Given the description of an element on the screen output the (x, y) to click on. 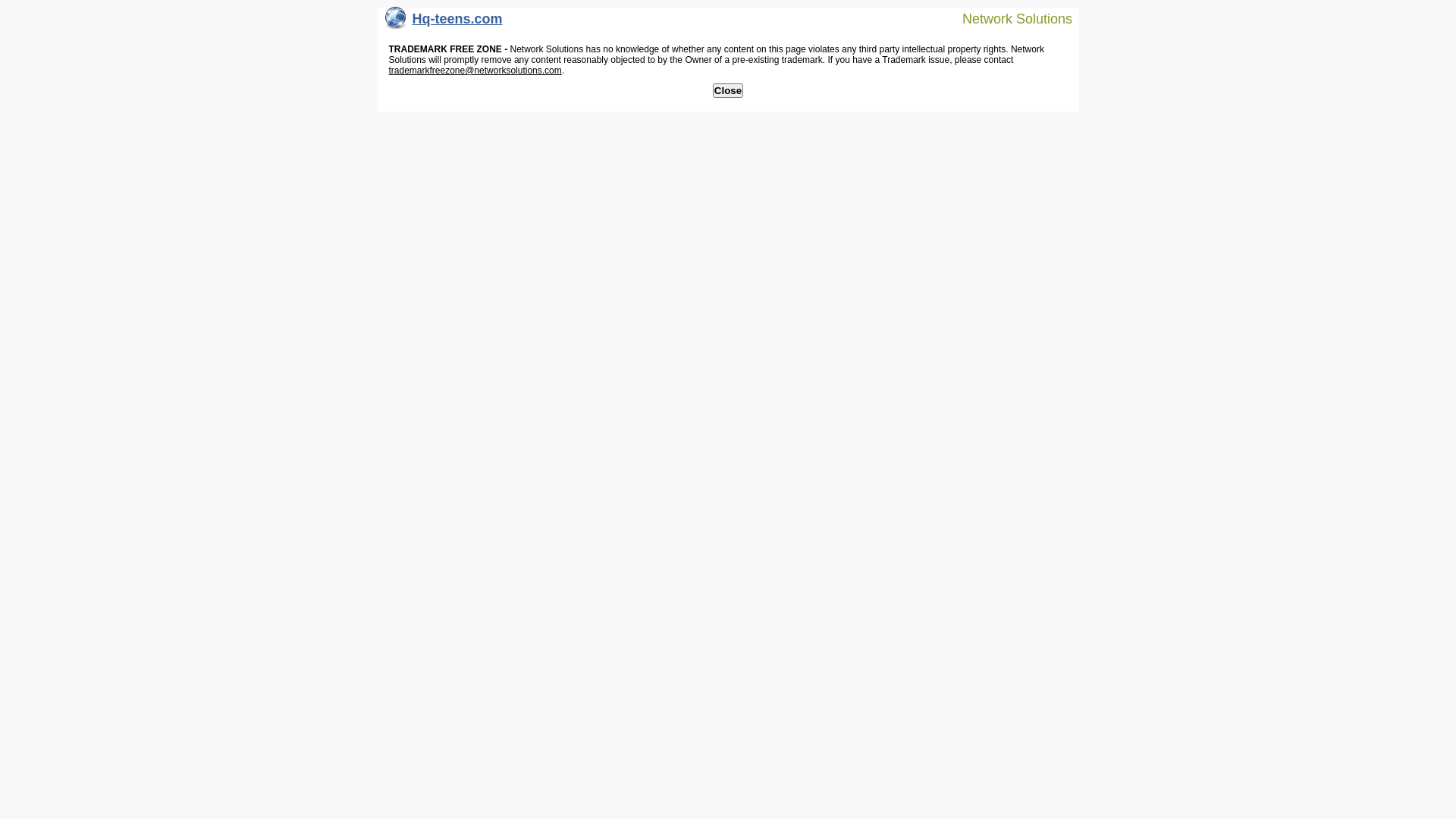
trademarkfreezone@networksolutions.com Element type: text (474, 70)
Network Solutions Element type: text (1007, 17)
Close Element type: text (727, 90)
Hq-teens.com Element type: text (443, 21)
